Given the description of an element on the screen output the (x, y) to click on. 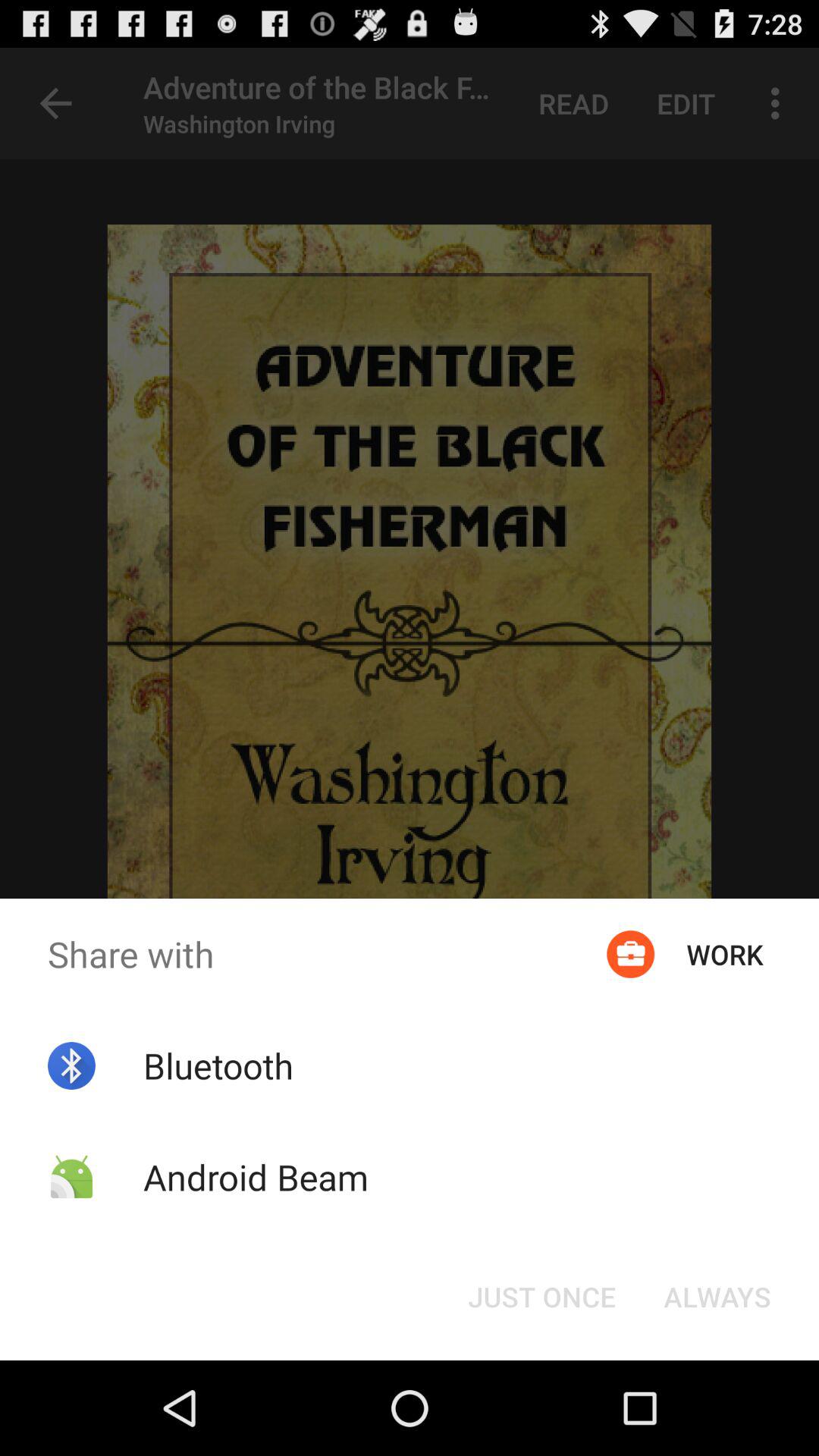
press the always icon (717, 1296)
